Given the description of an element on the screen output the (x, y) to click on. 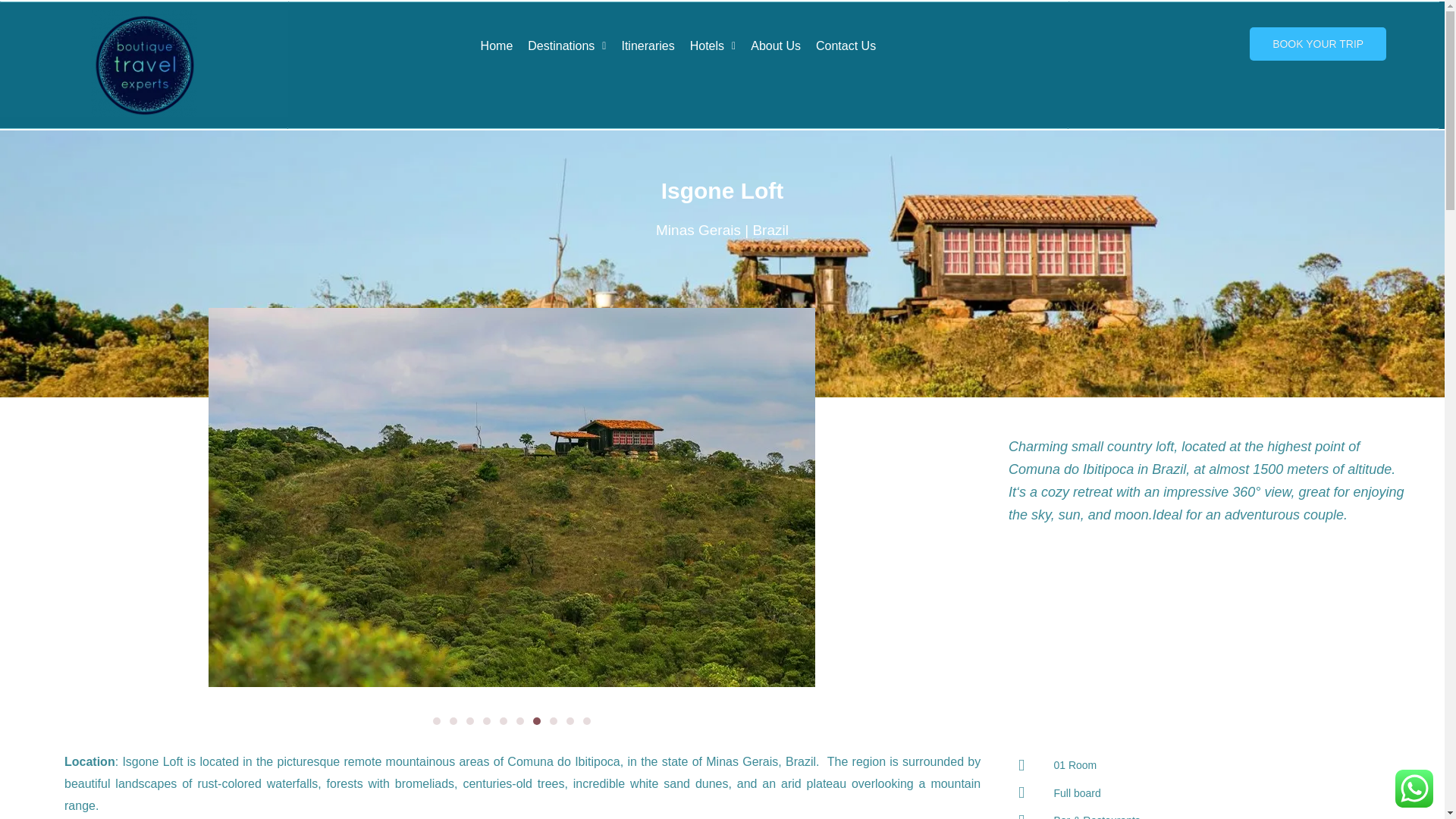
Destinations (565, 45)
Hotels (712, 45)
BOOK YOUR TRIP (1317, 43)
Contact Us (845, 45)
About Us (775, 45)
Home (497, 45)
Itineraries (646, 45)
